Given the description of an element on the screen output the (x, y) to click on. 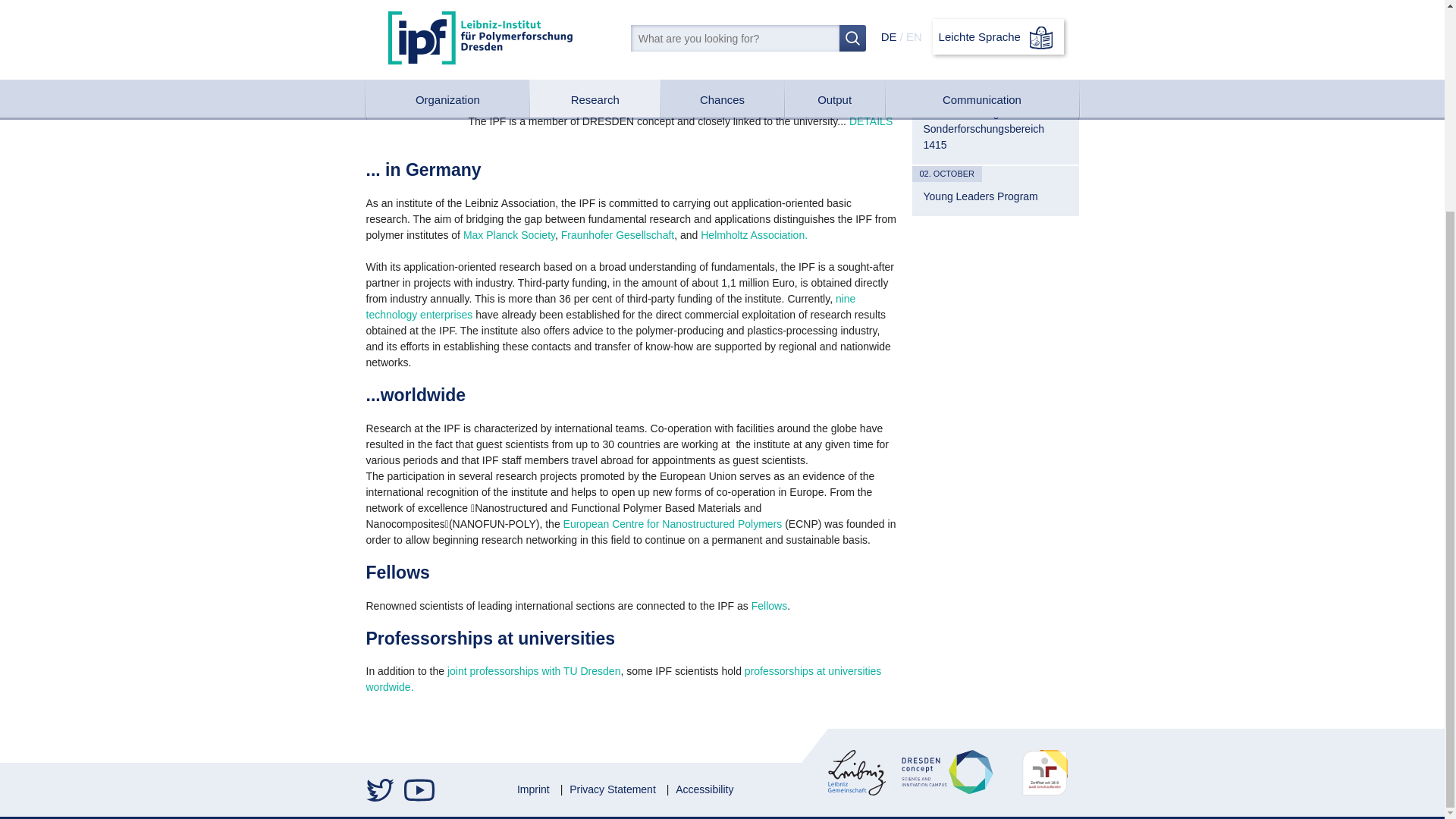
YouTube (418, 789)
Imprint (533, 788)
Young Leaders Program (994, 196)
Privacy Statement (612, 788)
Accessibility (704, 788)
Twitter (380, 789)
